Given the description of an element on the screen output the (x, y) to click on. 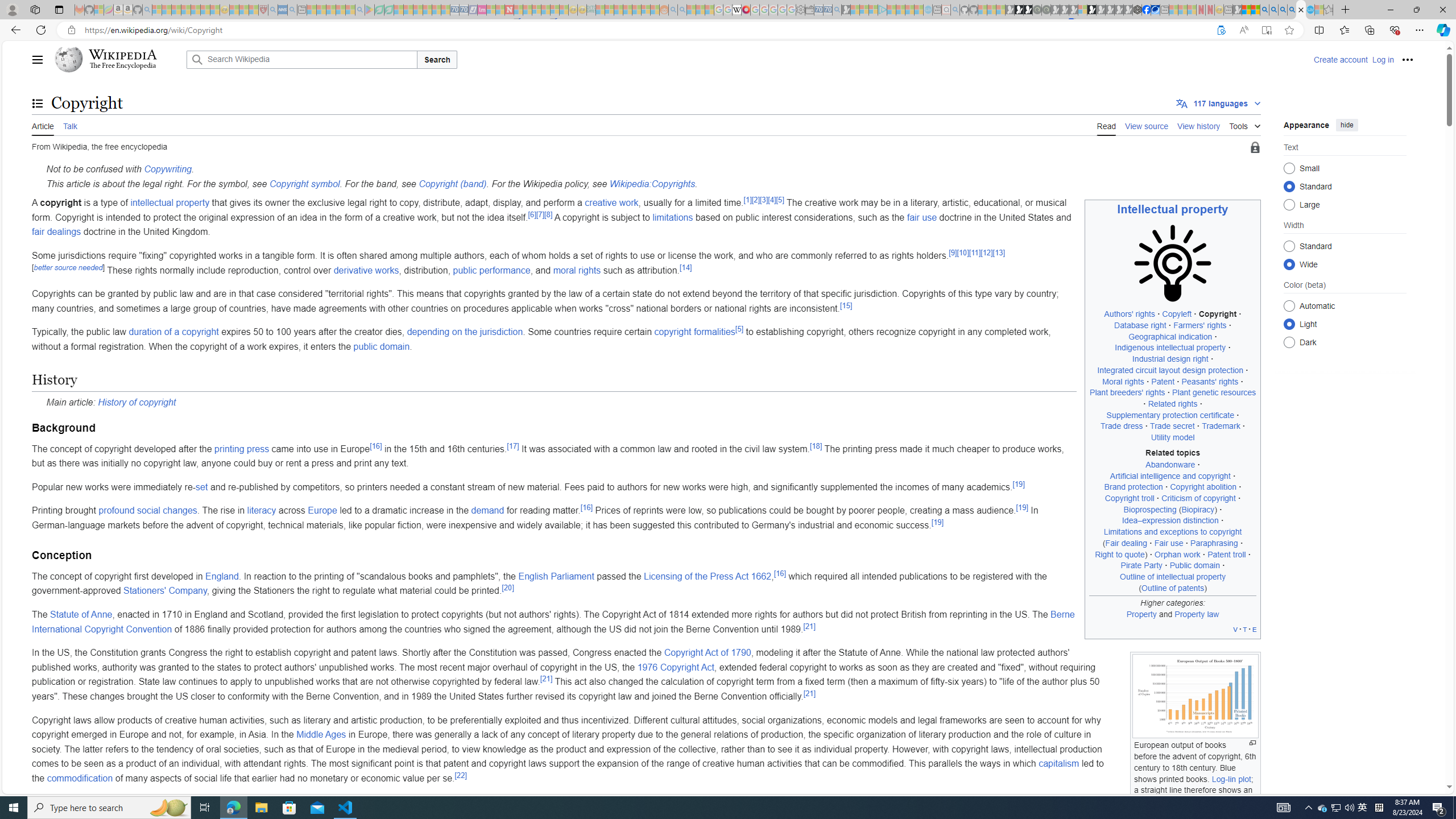
Farmers' rights (1200, 325)
v (1235, 628)
Artificial intelligence and copyright (1169, 475)
View history (1198, 124)
Wide (1289, 263)
Criticism of copyright (1198, 498)
Tools (1244, 124)
DITOGAMES AG Imprint - Sleeping (590, 9)
Future Focus Report 2024 - Sleeping (1045, 9)
Kinda Frugal - MSN - Sleeping (636, 9)
[17] (512, 445)
